Given the description of an element on the screen output the (x, y) to click on. 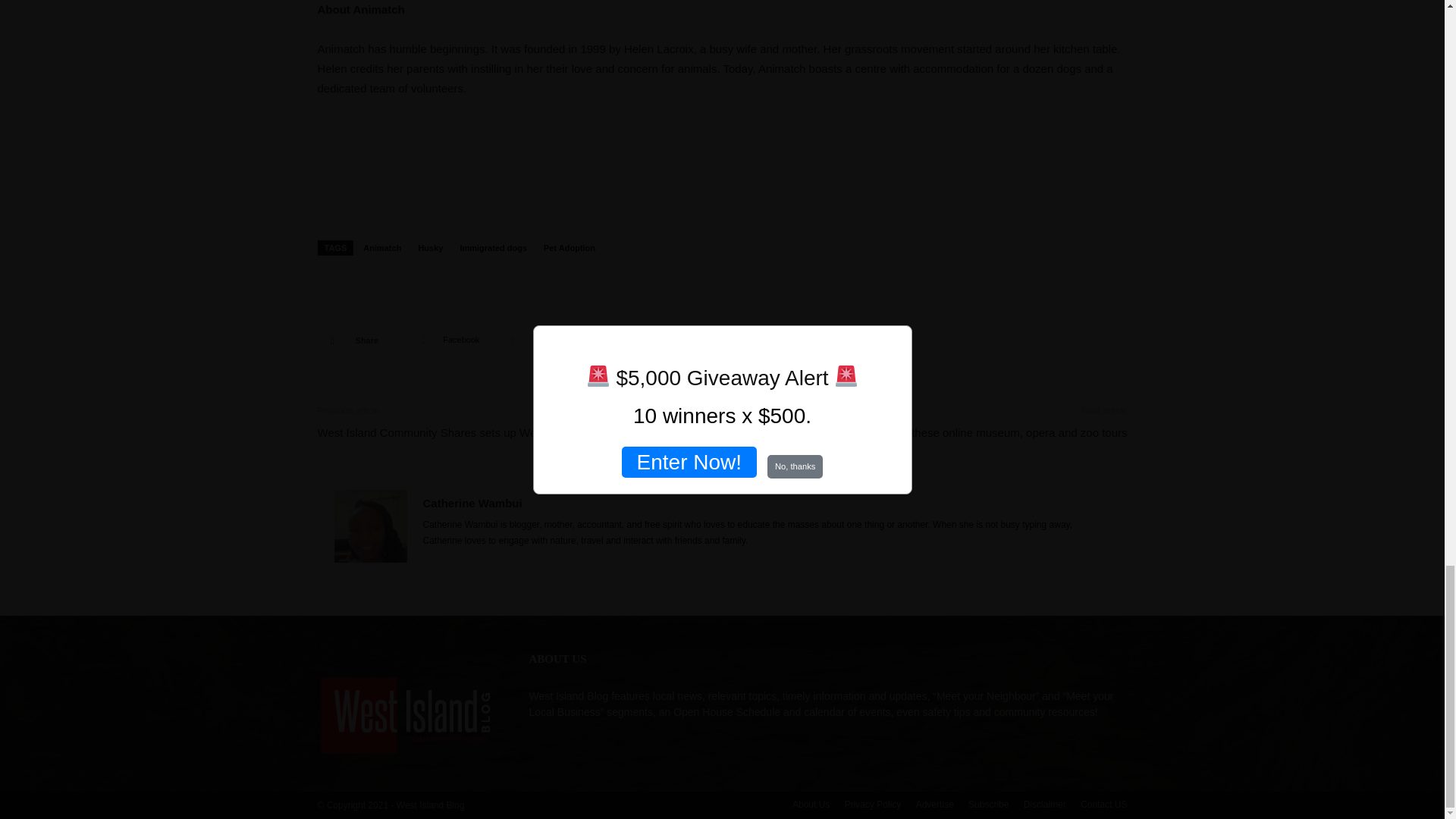
WhatsApp (705, 339)
Twitter (533, 339)
Pinterest (615, 339)
Facebook (450, 339)
Animatch (381, 247)
